Given the description of an element on the screen output the (x, y) to click on. 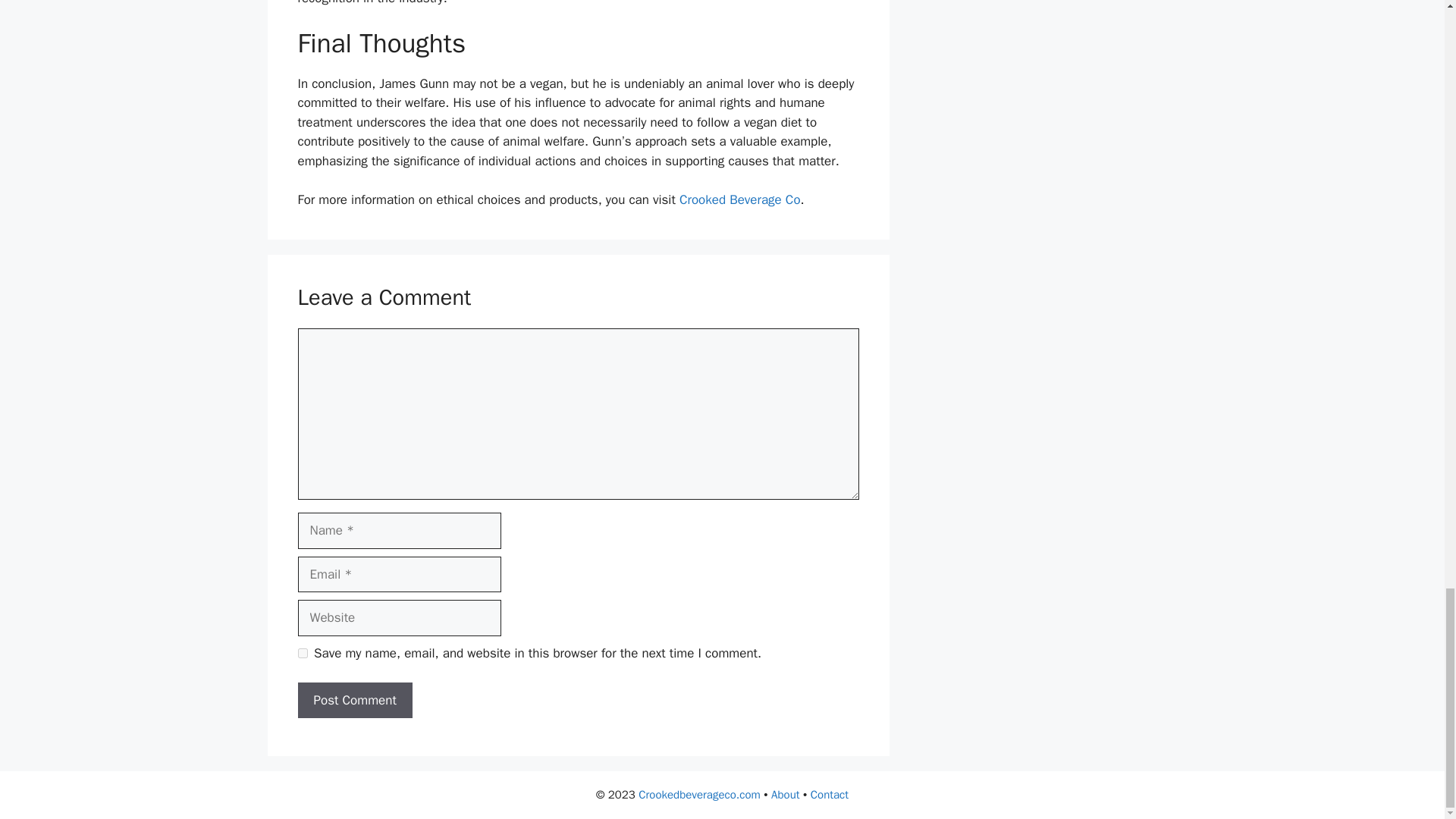
Crooked Beverage Co (739, 199)
Contact (829, 794)
yes (302, 653)
About (785, 794)
Crookedbeverageco.com (699, 794)
Post Comment (354, 700)
Post Comment (354, 700)
